Given the description of an element on the screen output the (x, y) to click on. 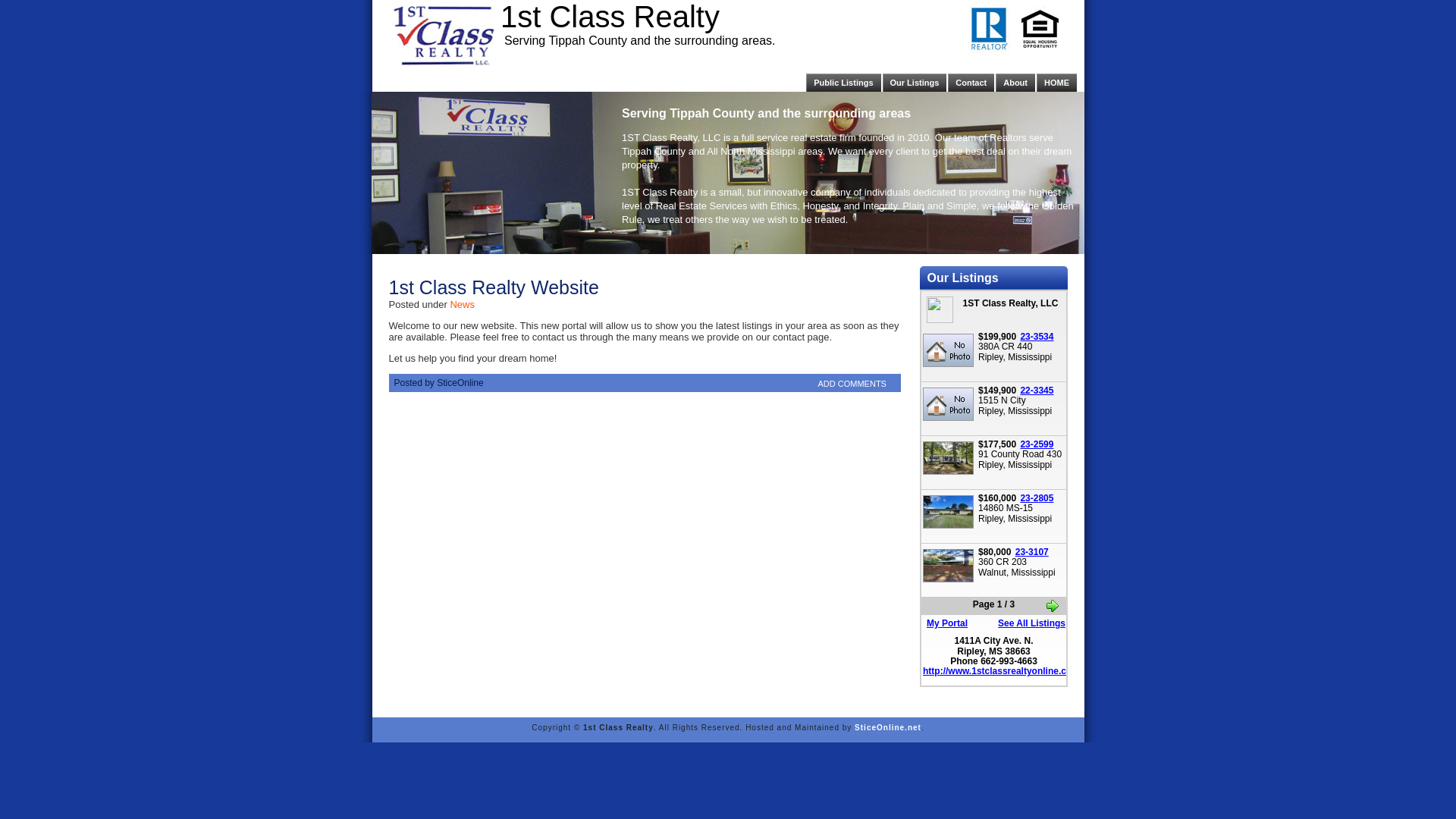
Our Listings Element type: text (914, 82)
1st Class Realty Element type: text (609, 16)
ADD COMMENTS Element type: text (852, 383)
Contact Element type: text (970, 82)
HOME Element type: text (1056, 82)
Public Listings Element type: text (843, 82)
SticeOnline.net Element type: text (887, 727)
About Element type: text (1015, 82)
News Element type: text (461, 304)
1st Class Realty Website Element type: text (493, 287)
